Given the description of an element on the screen output the (x, y) to click on. 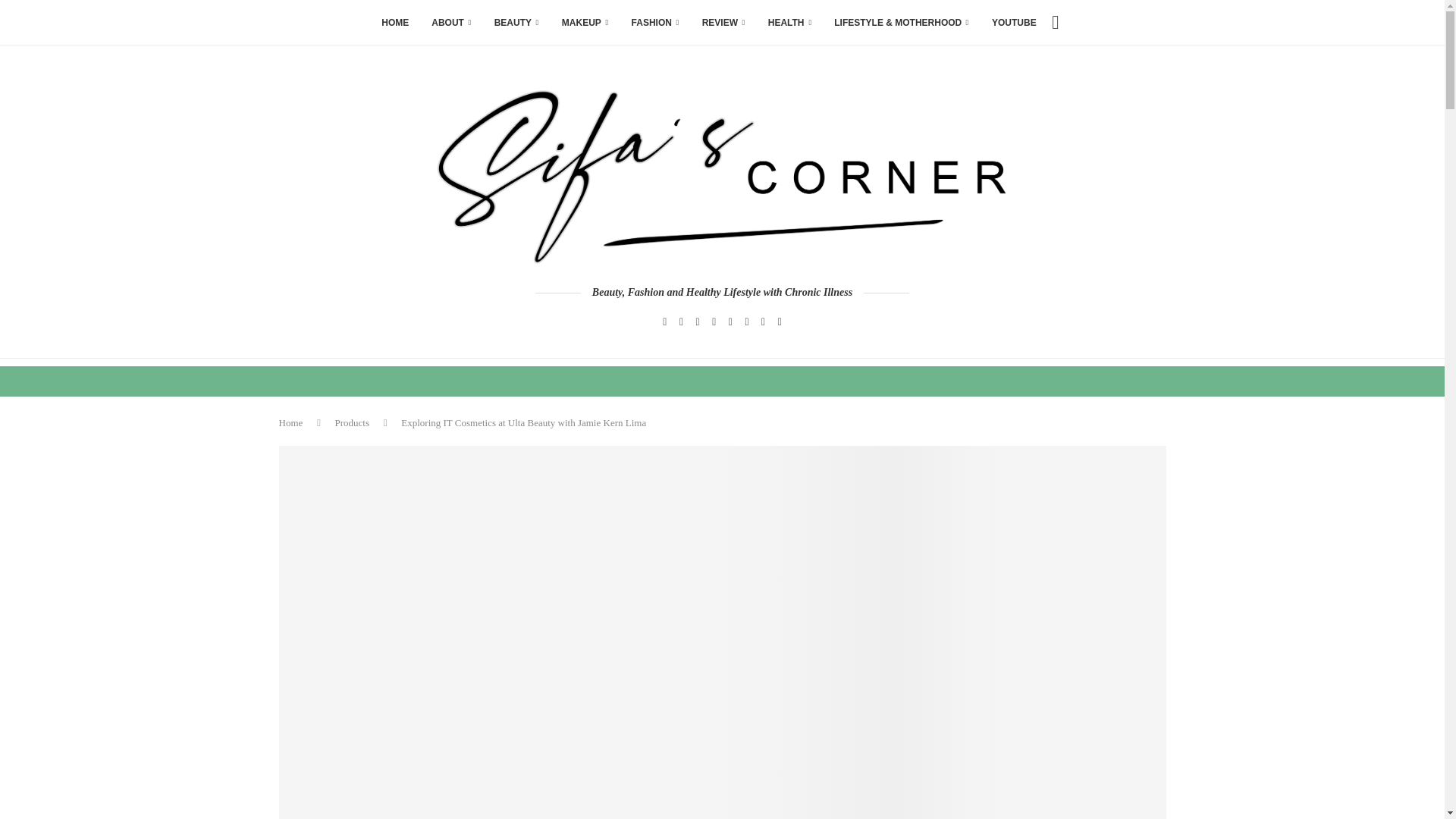
FASHION (655, 22)
REVIEW (723, 22)
YOUTUBE (1013, 22)
MAKEUP (585, 22)
ABOUT (450, 22)
Home (290, 422)
HEALTH (790, 22)
BEAUTY (516, 22)
Products (351, 422)
